Given the description of an element on the screen output the (x, y) to click on. 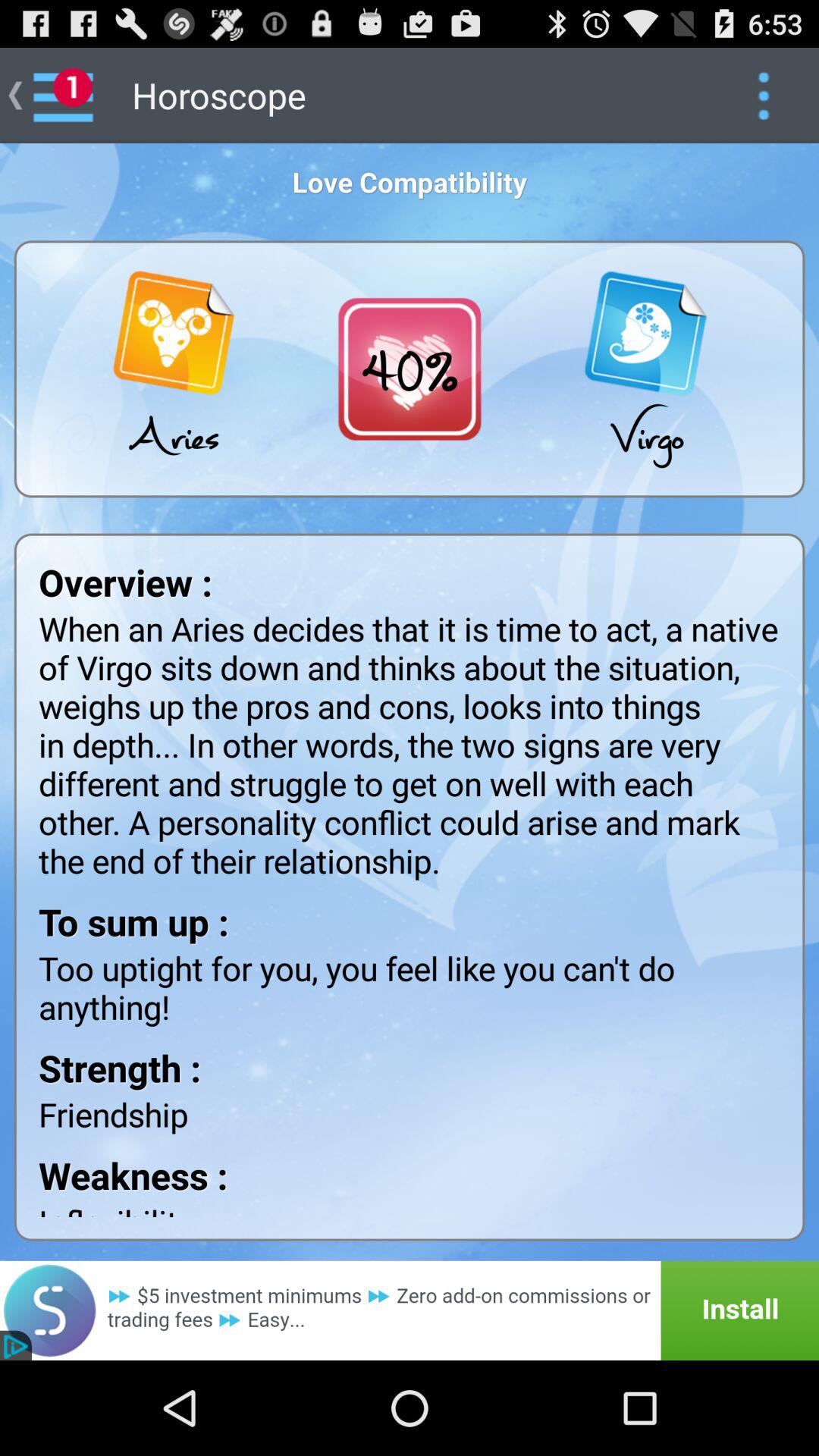
turn on the item next to the horoscope icon (763, 95)
